Given the description of an element on the screen output the (x, y) to click on. 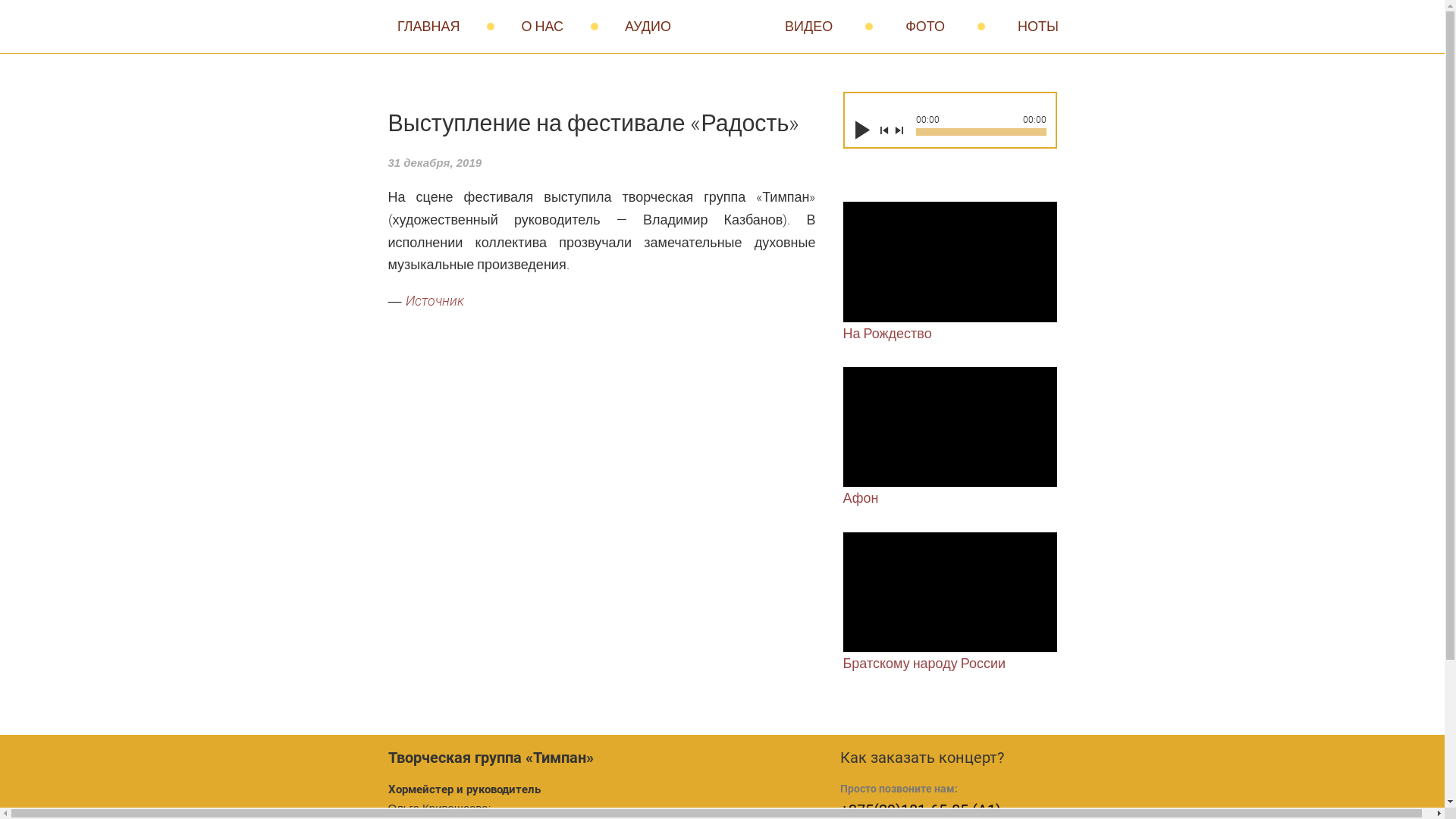
Next (right arrow) Element type: hover (781, 91)
